Given the description of an element on the screen output the (x, y) to click on. 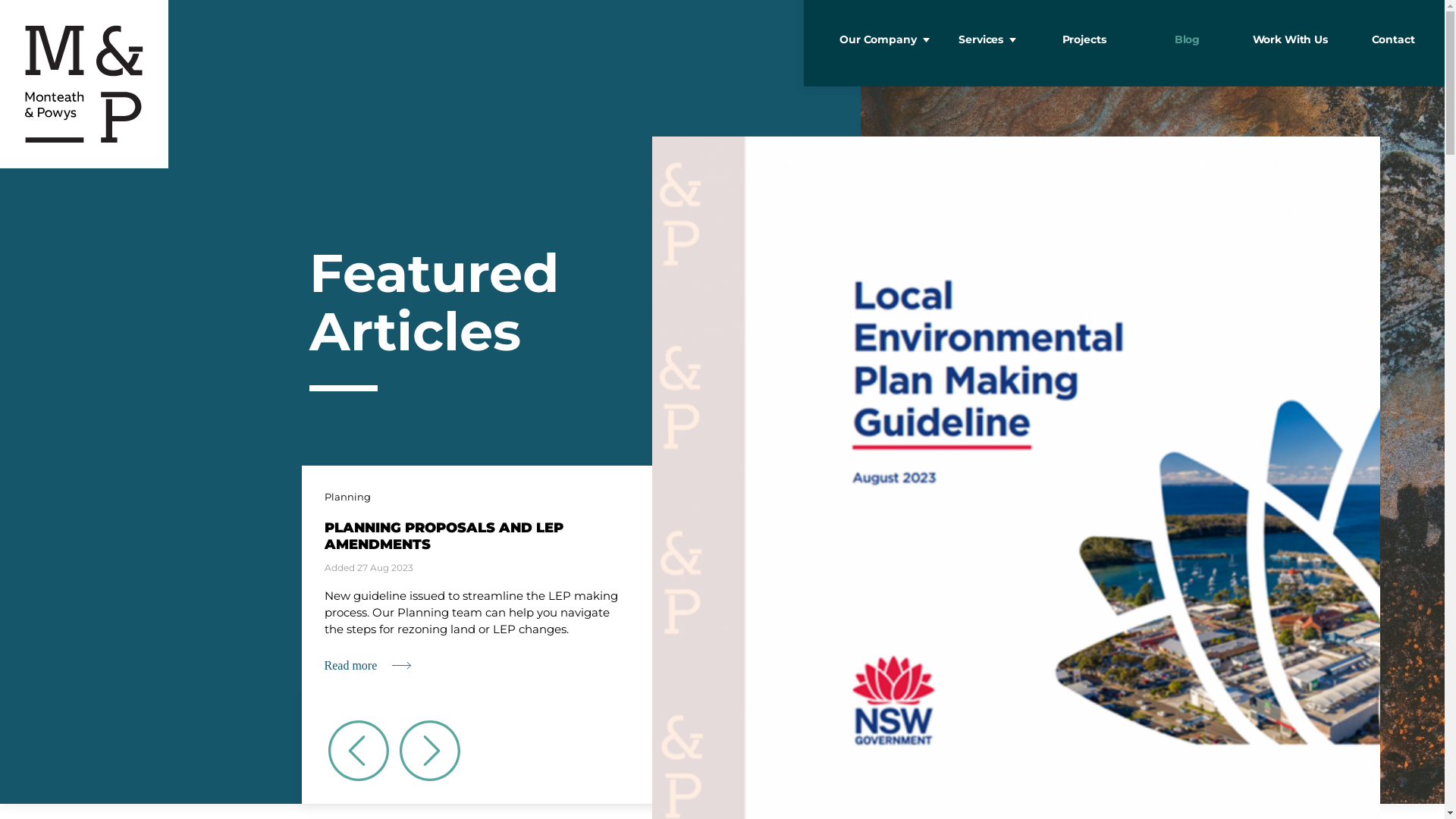
Our Company Element type: text (877, 43)
Read more Element type: text (350, 664)
Work With Us Element type: text (1289, 43)
Created with Lunacy Element type: text (84, 84)
Projects Element type: text (1083, 43)
Contact Element type: text (1392, 43)
Blog Element type: text (1186, 43)
Services Element type: text (980, 43)
